Given the description of an element on the screen output the (x, y) to click on. 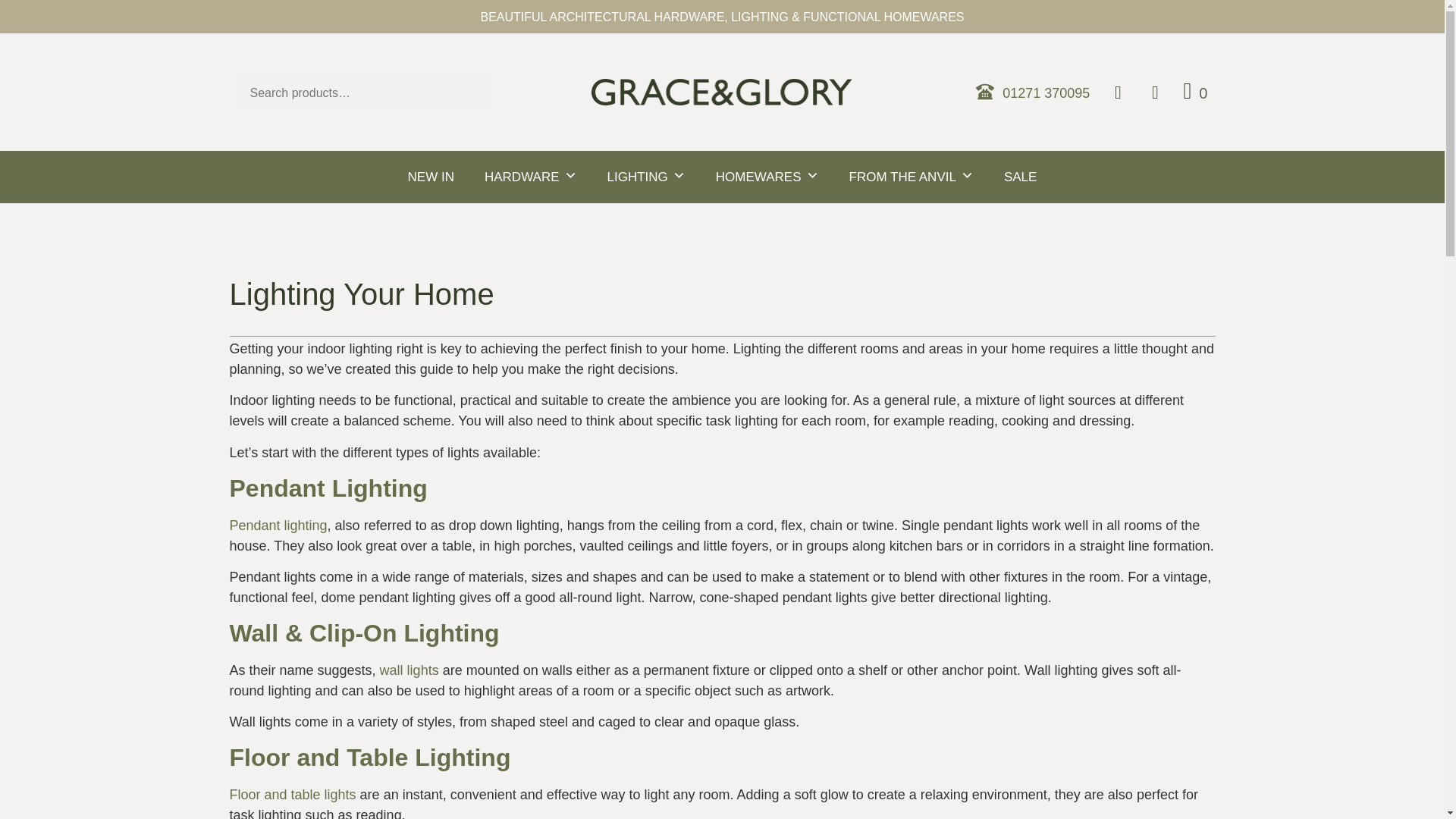
0 (1194, 90)
Search (38, 18)
01271 370095 (1032, 91)
